Given the description of an element on the screen output the (x, y) to click on. 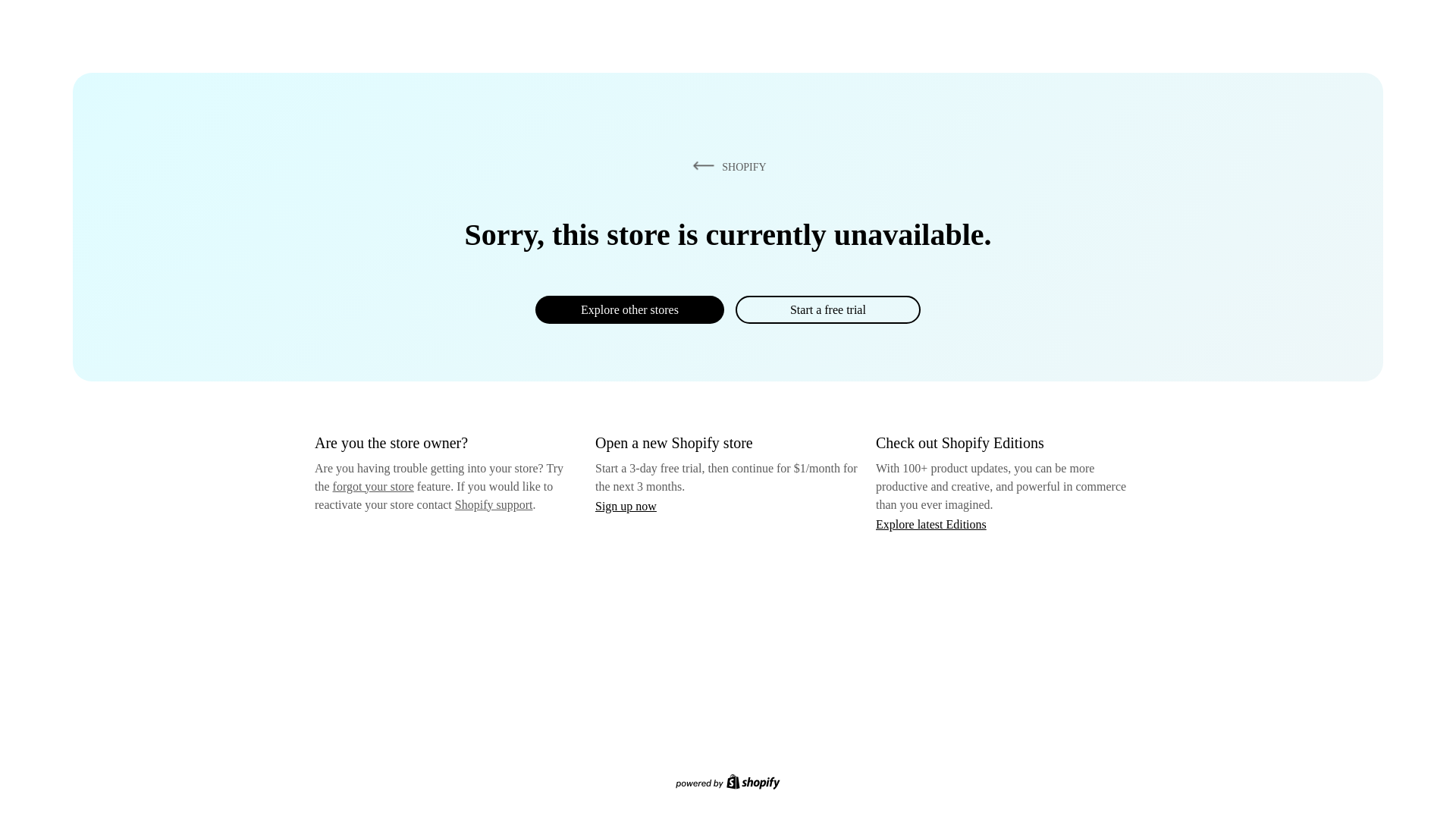
Explore latest Editions (931, 523)
Shopify support (493, 504)
SHOPIFY (726, 166)
Sign up now (625, 505)
Explore other stores (629, 309)
forgot your store (373, 486)
Start a free trial (827, 309)
